Given the description of an element on the screen output the (x, y) to click on. 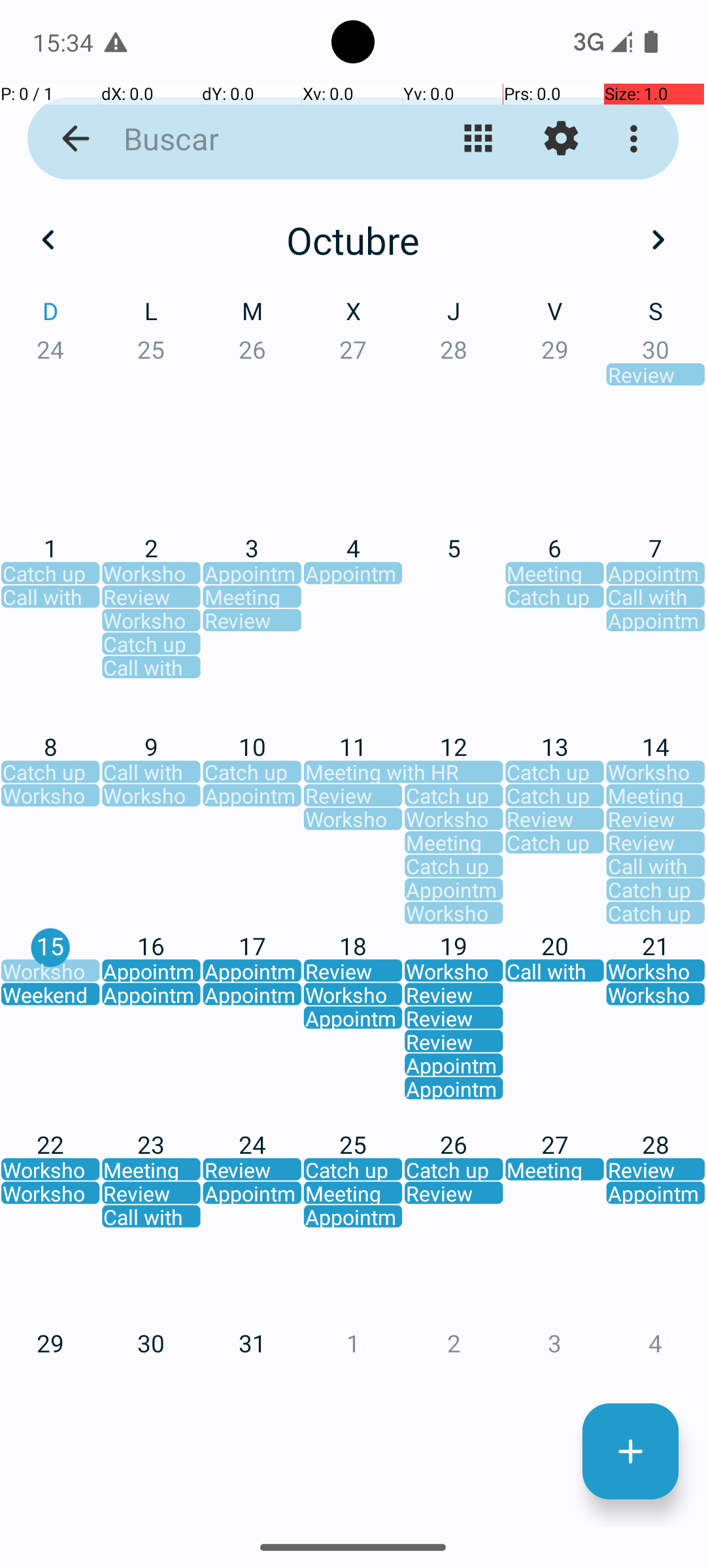
ENERO Element type: android.widget.TextView (123, 319)
FEBRERO Element type: android.widget.TextView (352, 319)
MARZO Element type: android.widget.TextView (582, 319)
ABRIL Element type: android.widget.TextView (123, 621)
MAYO Element type: android.widget.TextView (352, 621)
JUNIO Element type: android.widget.TextView (582, 621)
JULIO Element type: android.widget.TextView (123, 923)
AGOSTO Element type: android.widget.TextView (352, 923)
SEPTIEMBRE Element type: android.widget.TextView (582, 923)
OCTUBRE Element type: android.widget.TextView (123, 1224)
NOVIEMBRE Element type: android.widget.TextView (352, 1224)
DICIEMBRE Element type: android.widget.TextView (582, 1224)
